Given the description of an element on the screen output the (x, y) to click on. 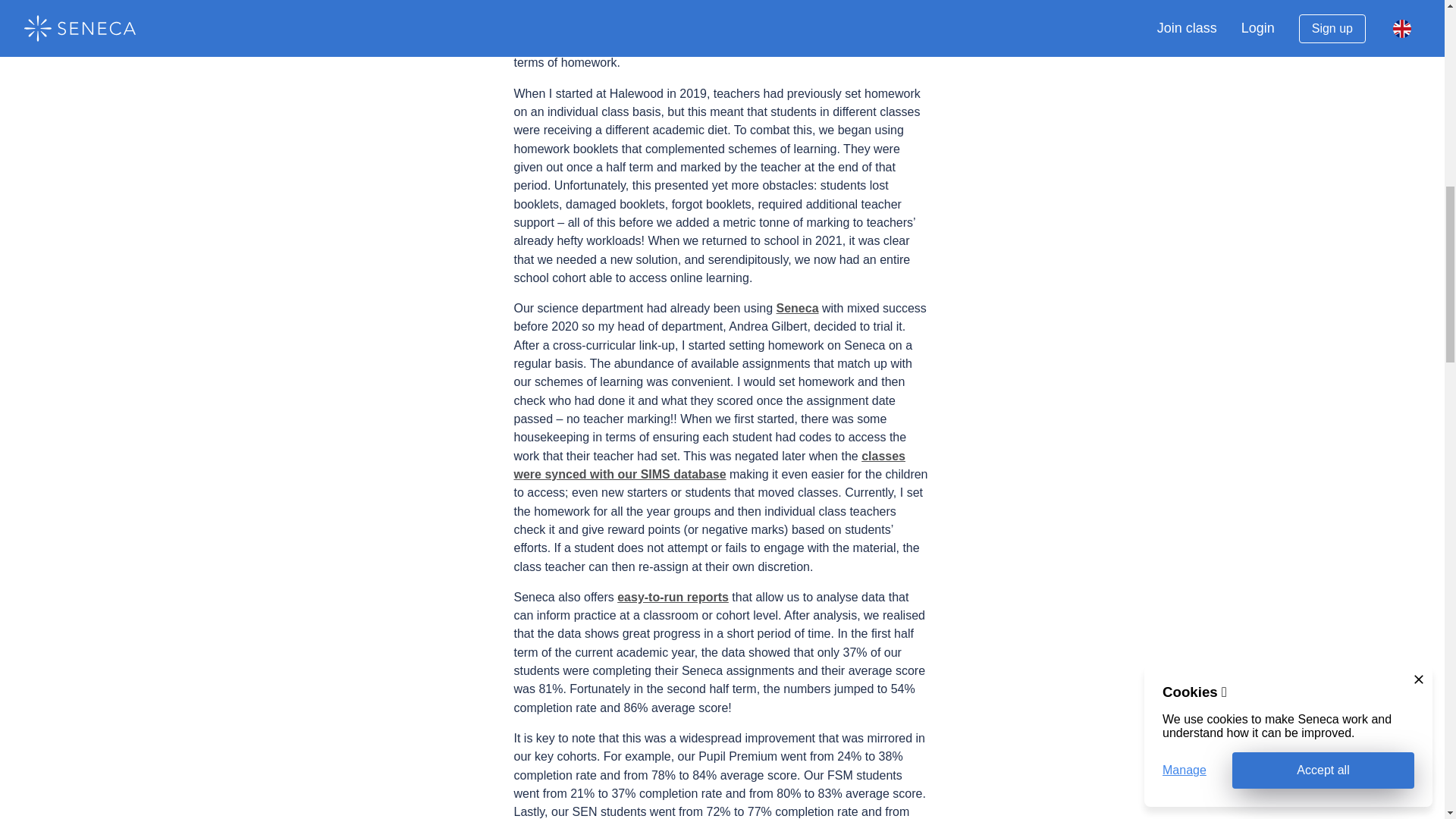
easy-to-run reports (673, 596)
classes were synced with our SIMS database (709, 464)
Seneca (797, 308)
